Given the description of an element on the screen output the (x, y) to click on. 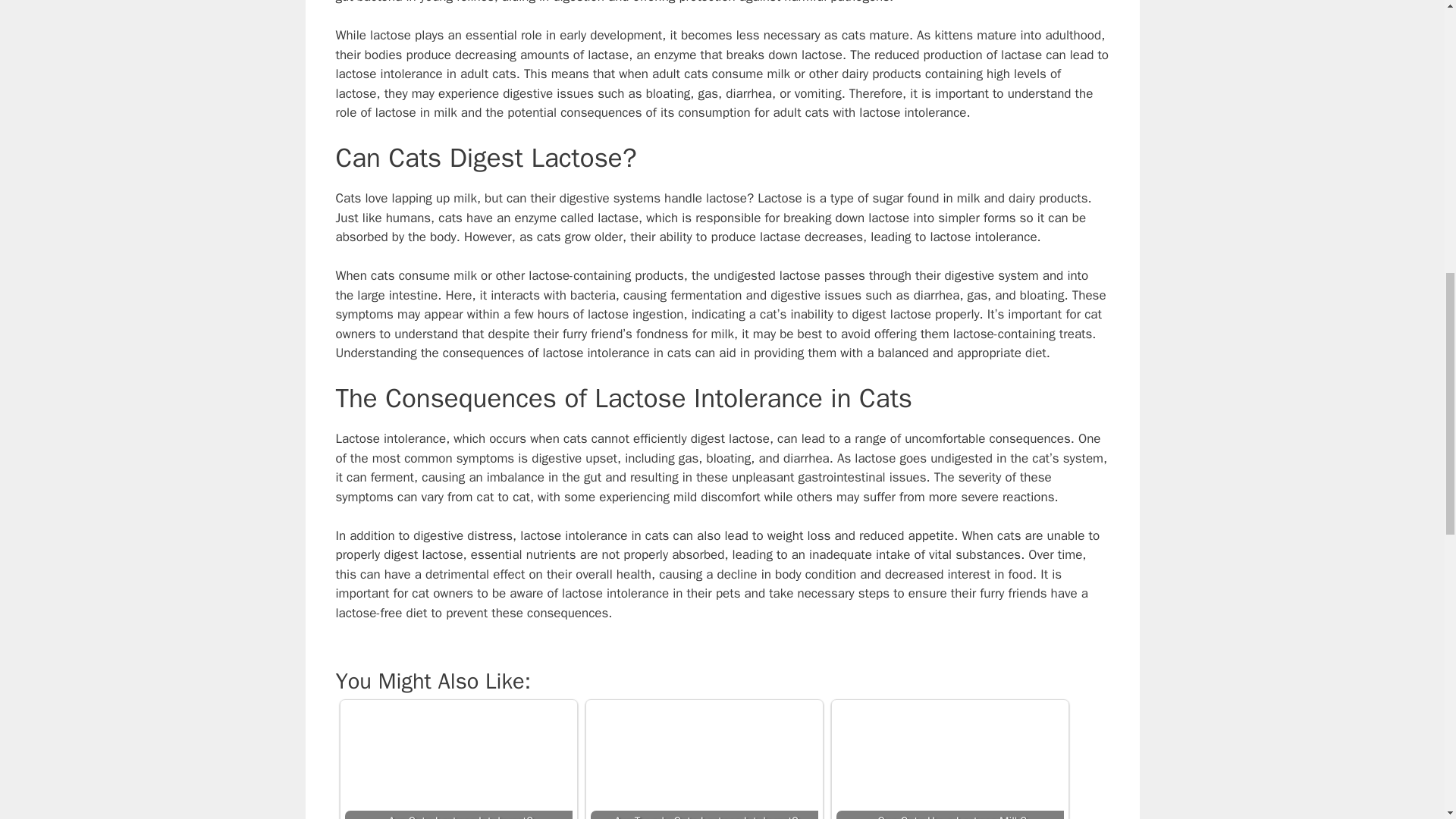
Are Tuxedo Cats Lactose Intolerant? (702, 761)
Can Cats Have Lactose Milk? (948, 761)
Are Cats Lactose Intolerant? (457, 761)
